Given the description of an element on the screen output the (x, y) to click on. 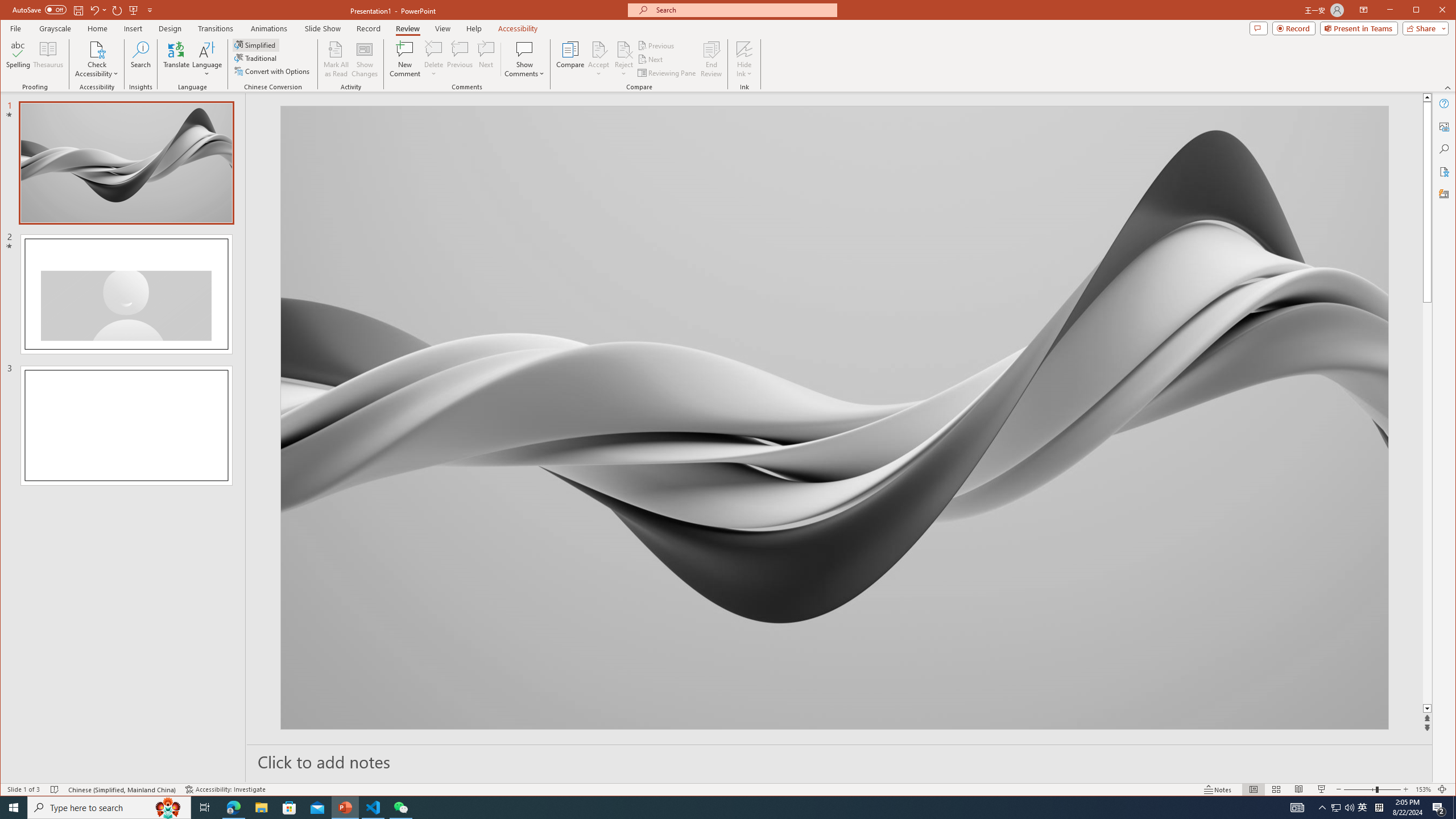
Show Changes (365, 59)
Translate (175, 59)
Simplified (255, 44)
